Given the description of an element on the screen output the (x, y) to click on. 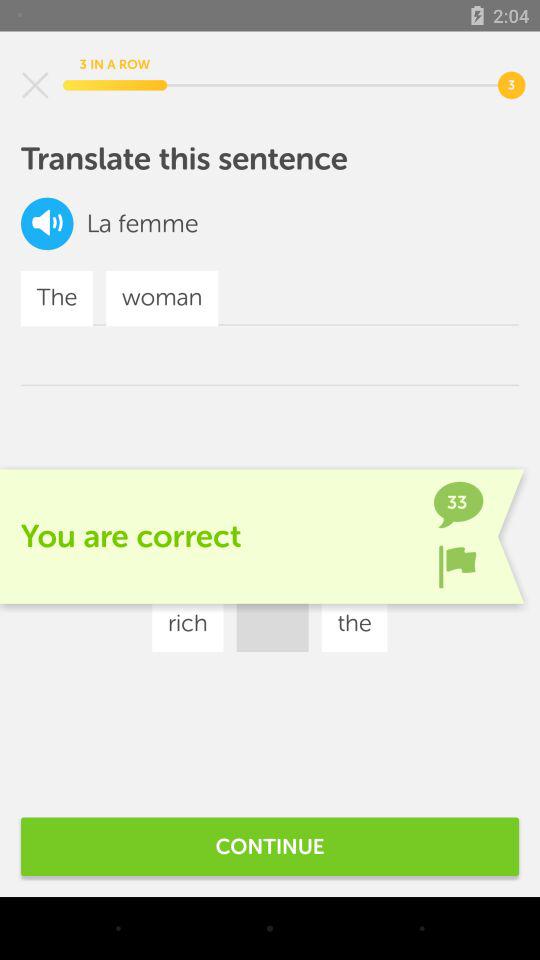
tap item next to (98, 223)
